Given the description of an element on the screen output the (x, y) to click on. 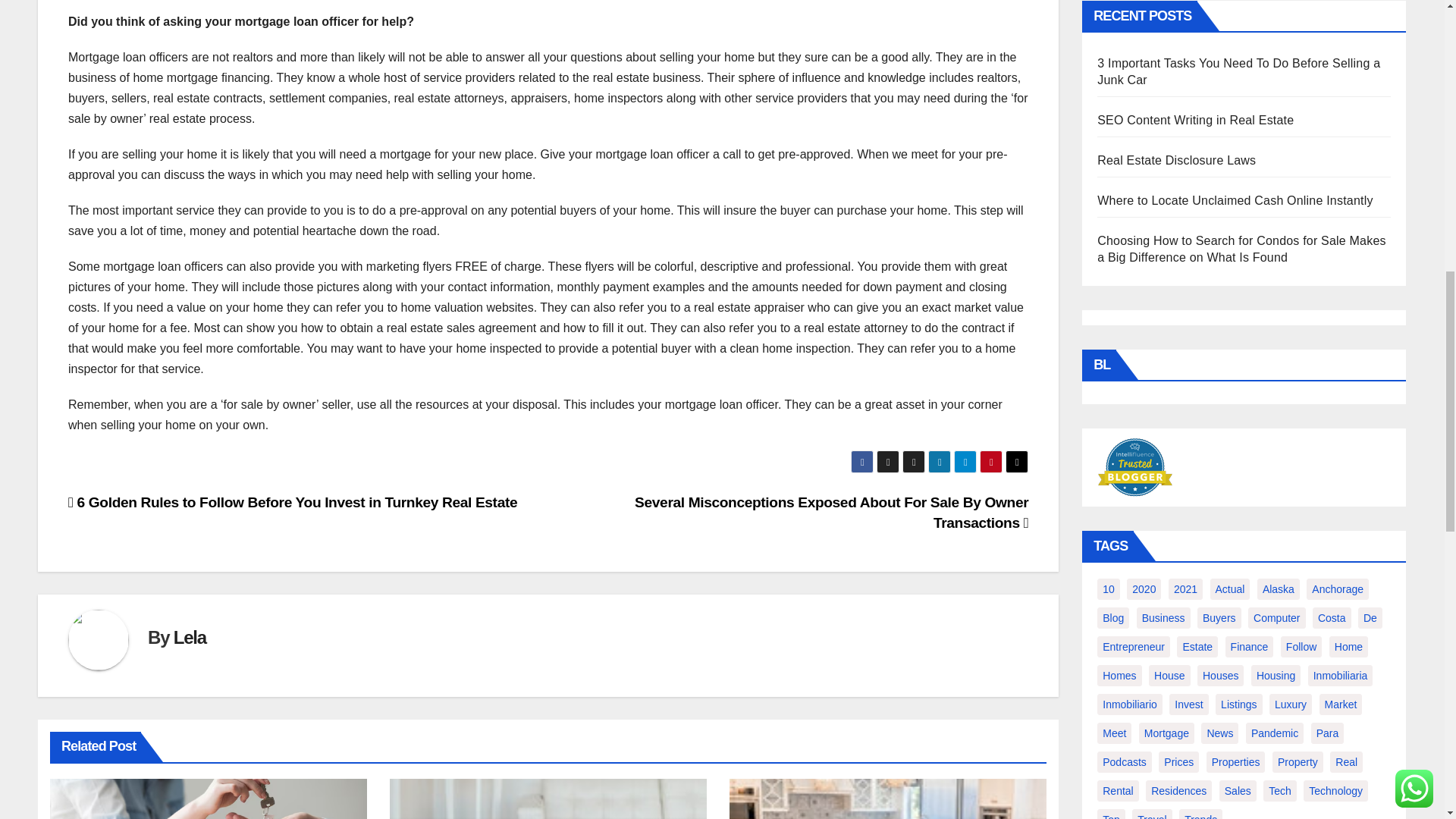
Lela (189, 637)
